Given the description of an element on the screen output the (x, y) to click on. 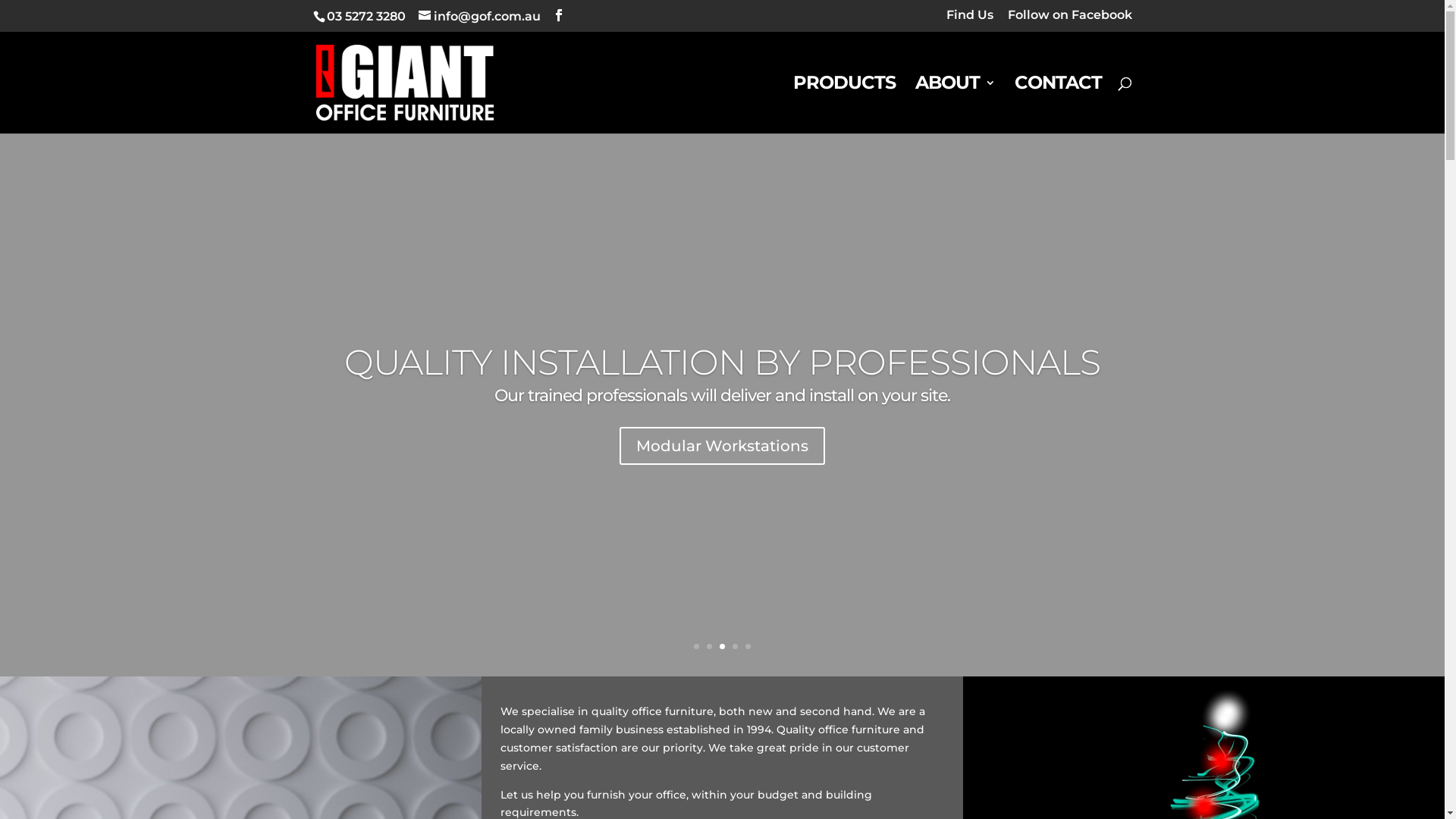
1 Element type: text (696, 646)
4 Element type: text (734, 646)
CONTACT Element type: text (1057, 105)
2 Element type: text (709, 646)
info@gof.com.au Element type: text (479, 16)
PRODUCTS Element type: text (844, 105)
QUALITY INSTALLATION BY PROFESSIONALS Element type: text (722, 361)
Find Us Element type: text (969, 19)
5 Element type: text (747, 646)
3 Element type: text (721, 646)
ABOUT Element type: text (954, 105)
Modular Workstations Element type: text (722, 445)
Follow on Facebook Element type: text (1069, 19)
